Given the description of an element on the screen output the (x, y) to click on. 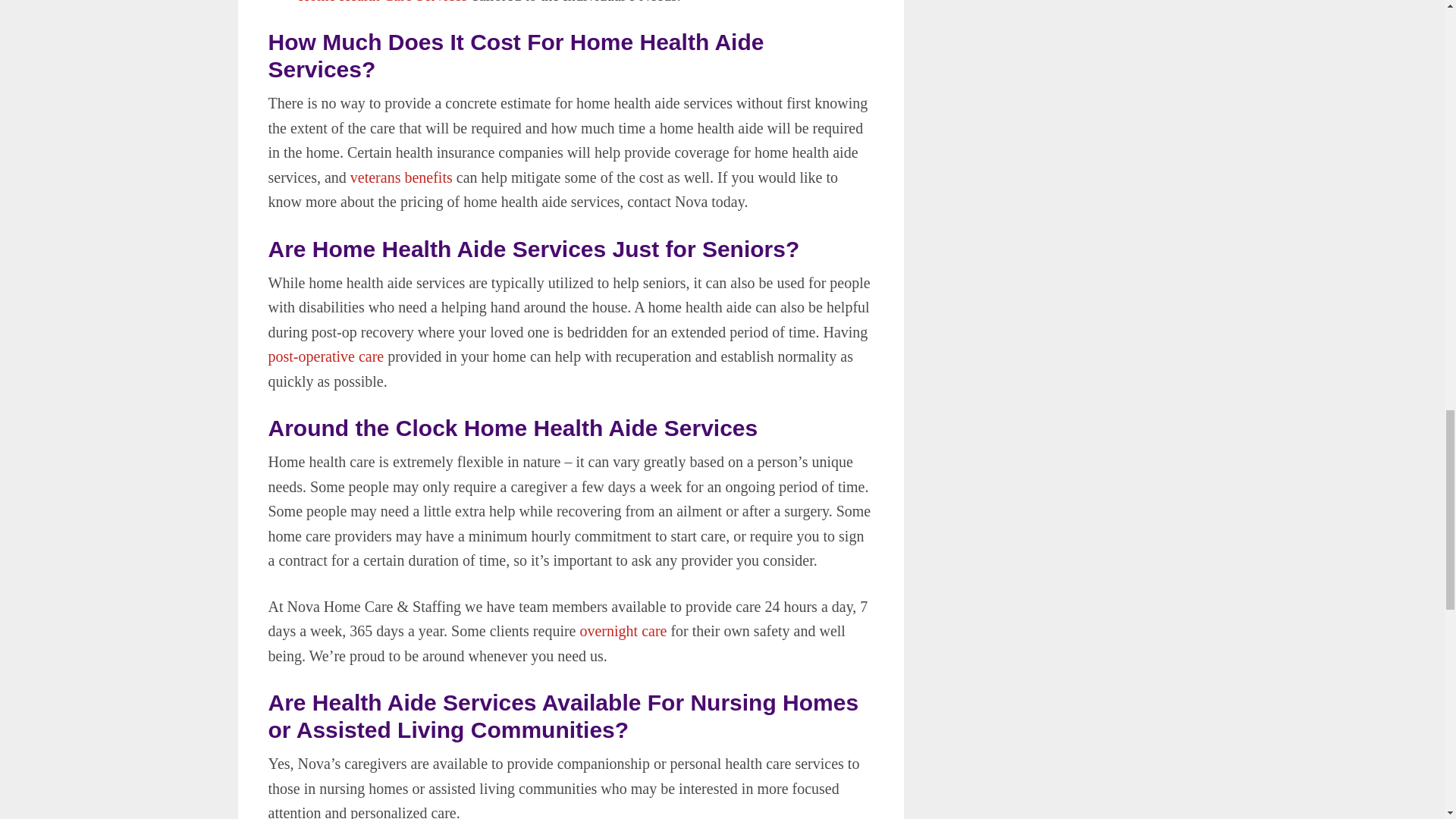
veterans benefits (401, 176)
overnight care (622, 630)
Home Health Care Services (382, 2)
post-operative care (325, 356)
